Given the description of an element on the screen output the (x, y) to click on. 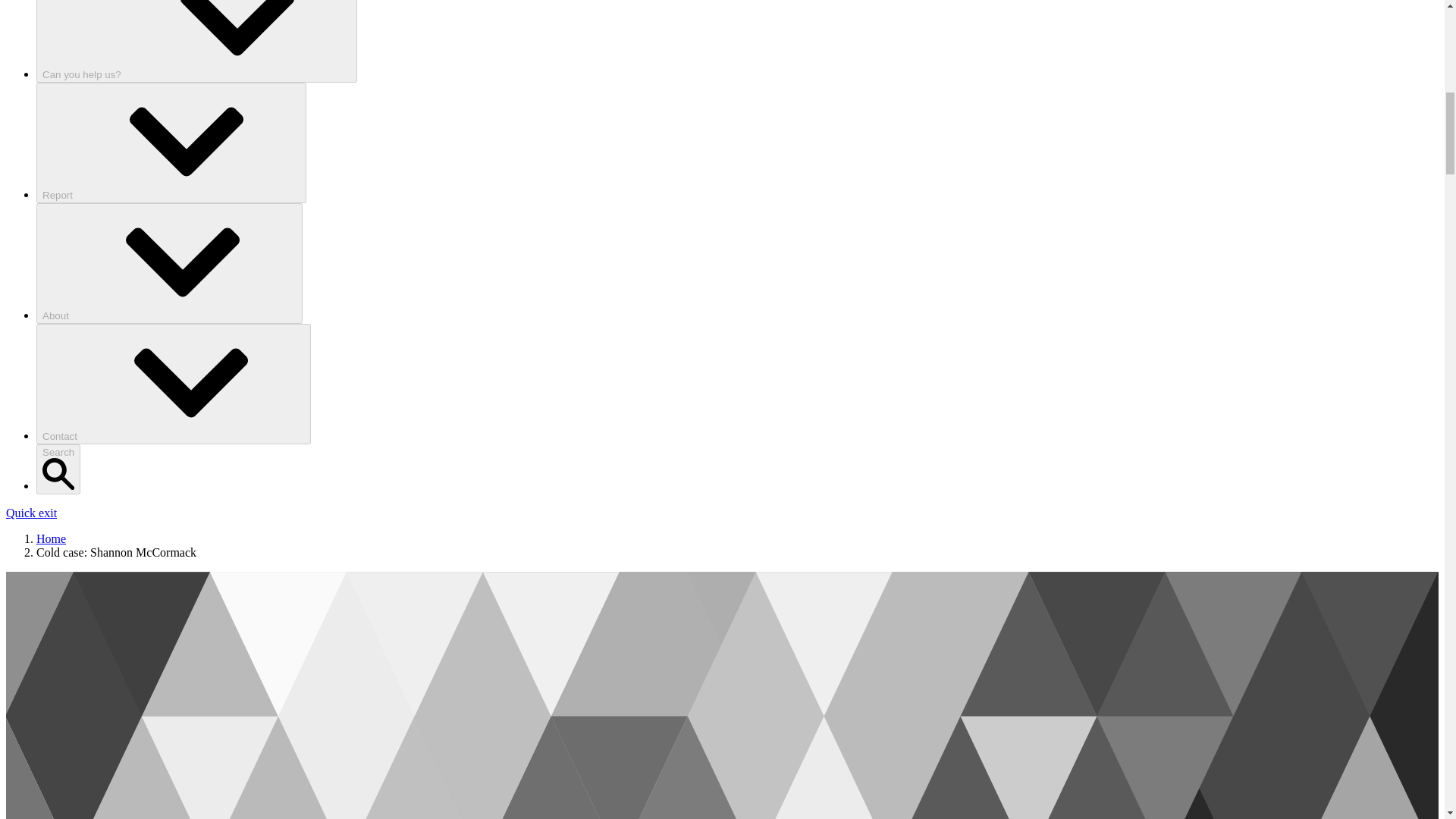
Quick exit (30, 512)
Home (50, 538)
